Given the description of an element on the screen output the (x, y) to click on. 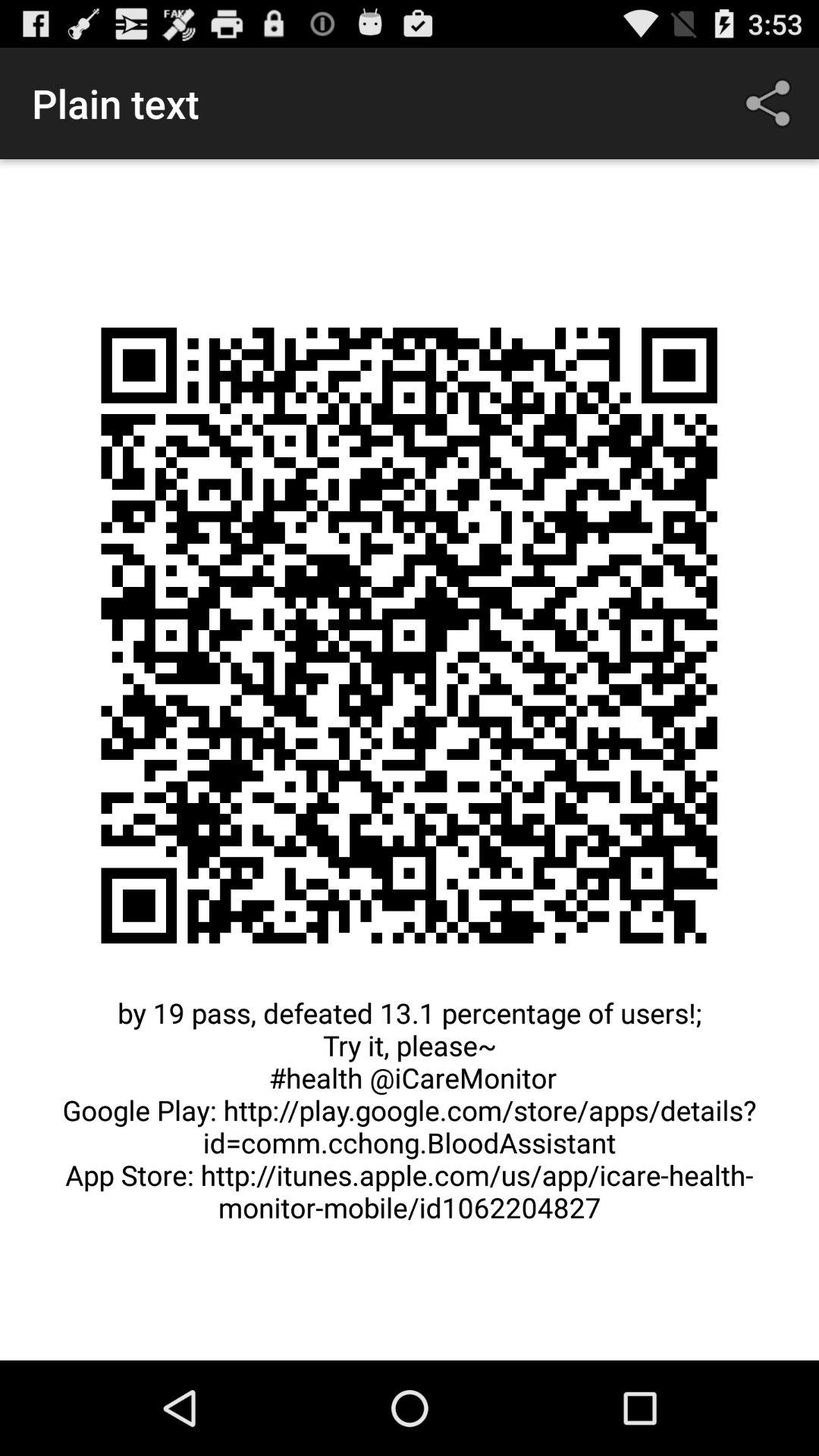
turn on by 19 pass item (409, 1118)
